Given the description of an element on the screen output the (x, y) to click on. 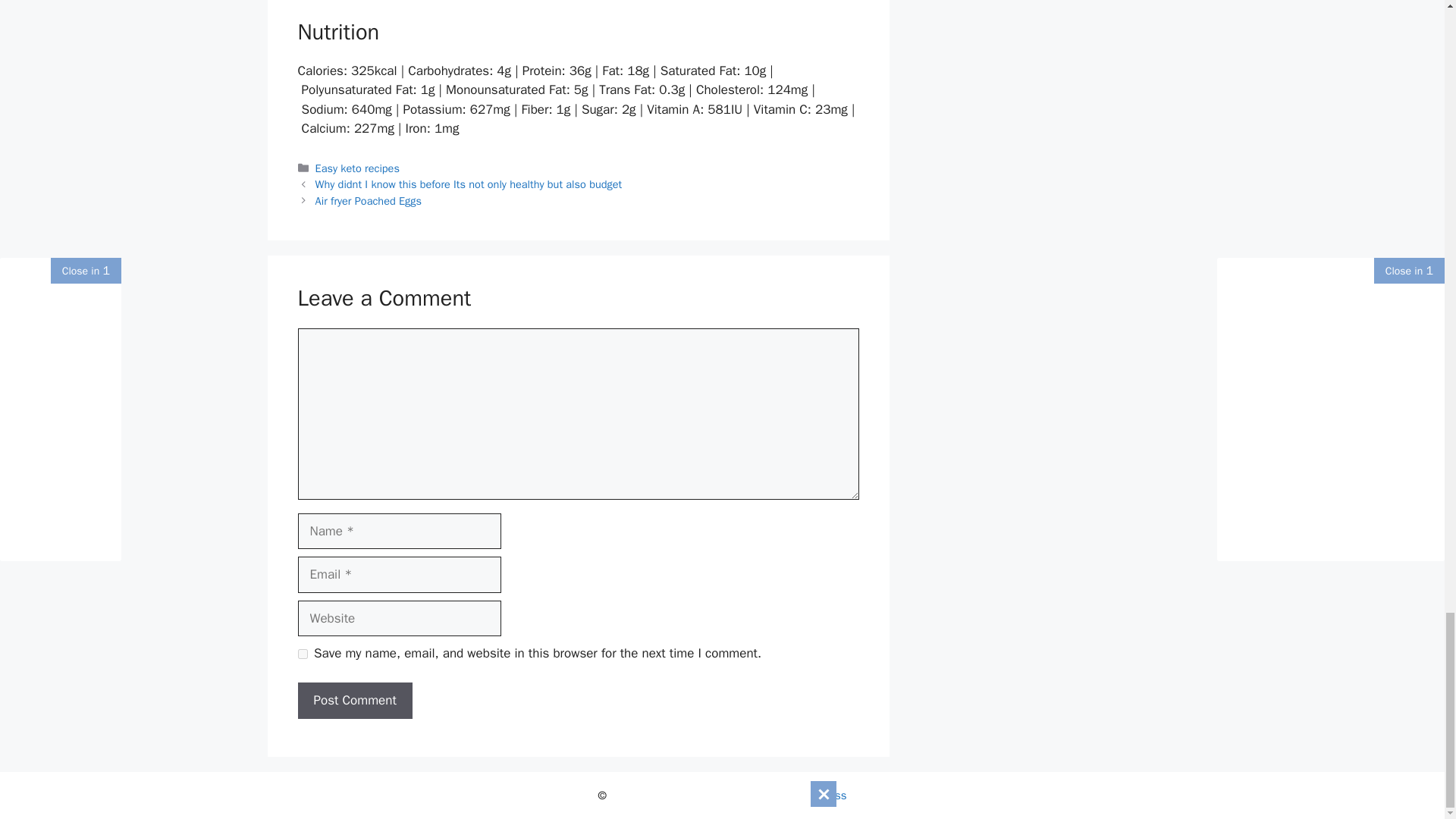
Post Comment (354, 700)
Air fryer Poached Eggs (368, 201)
yes (302, 654)
Easy keto recipes (356, 168)
Post Comment (354, 700)
